Given the description of an element on the screen output the (x, y) to click on. 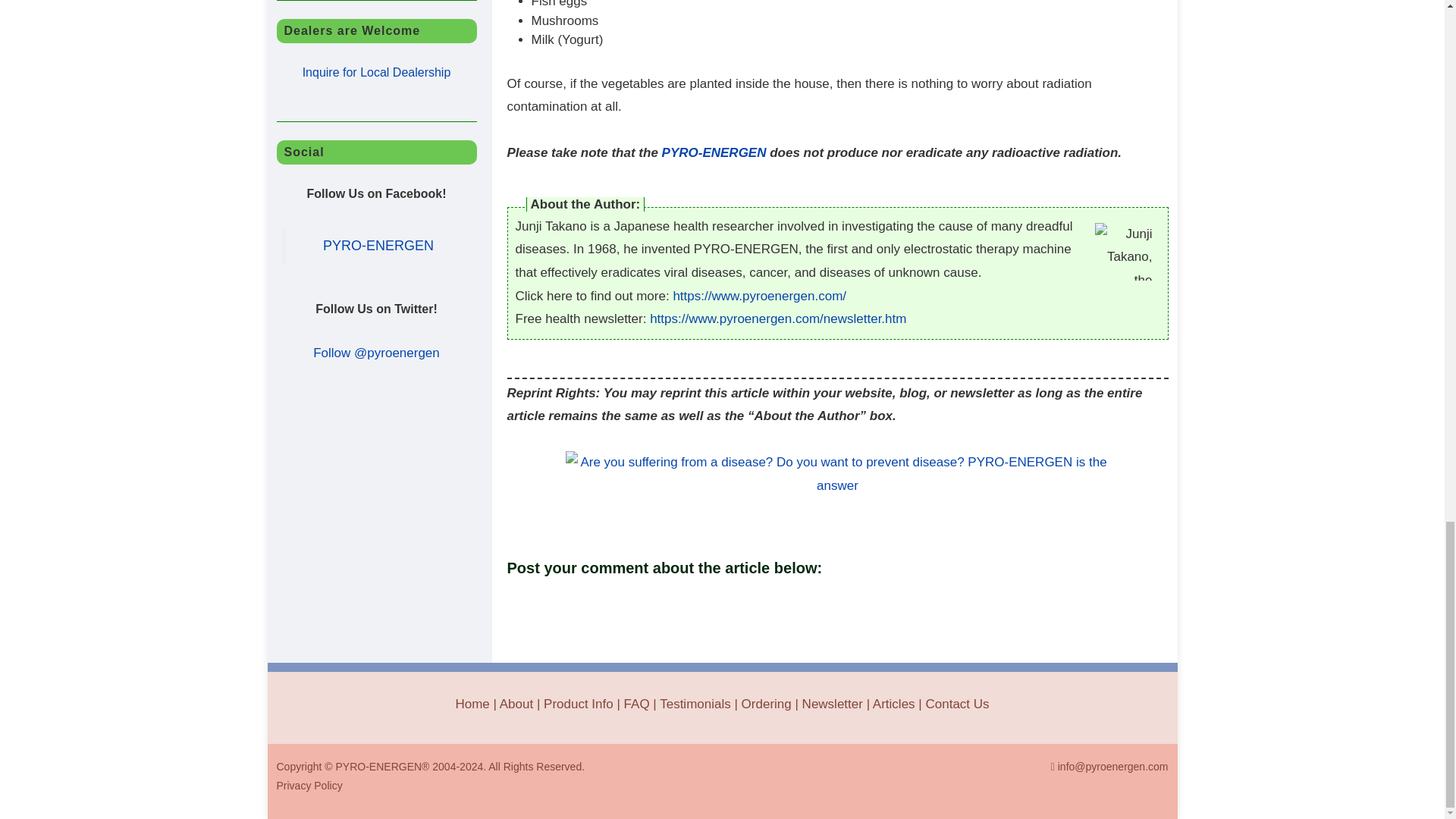
Newsletter (832, 703)
Contact Us (956, 703)
Ordering (766, 703)
About (515, 703)
Articles (893, 703)
Product Info (577, 703)
PYRO-ENERGEN (714, 152)
PYRO-ENERGEN (378, 245)
FAQ (636, 703)
Testimonials (694, 703)
Inquire for Local Dealership (376, 72)
Home (471, 703)
